Given the description of an element on the screen output the (x, y) to click on. 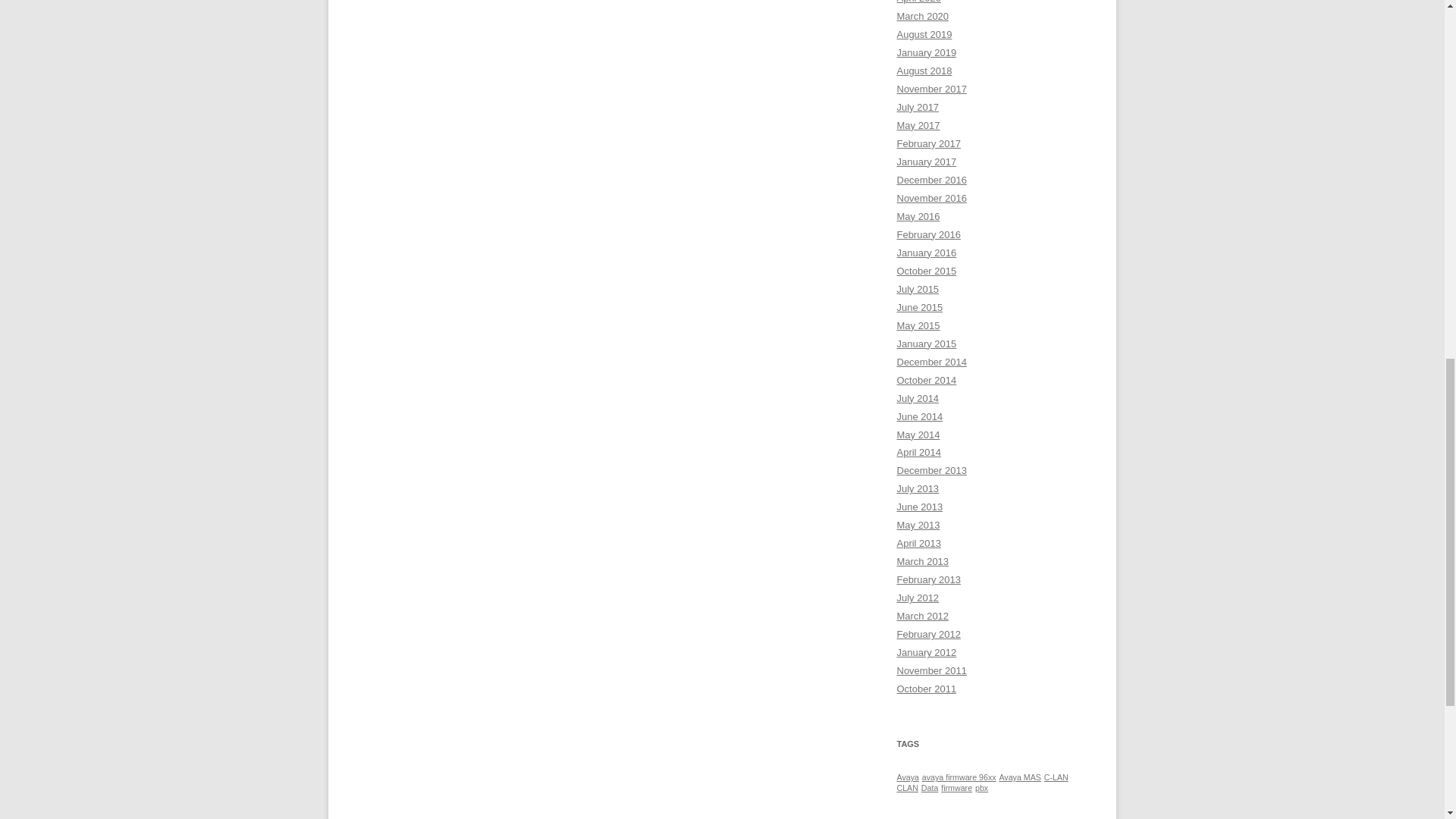
August 2019 (924, 34)
January 2019 (926, 52)
November 2017 (931, 89)
August 2018 (924, 70)
July 2017 (917, 107)
May 2017 (917, 125)
April 2020 (918, 2)
March 2020 (922, 16)
